Given the description of an element on the screen output the (x, y) to click on. 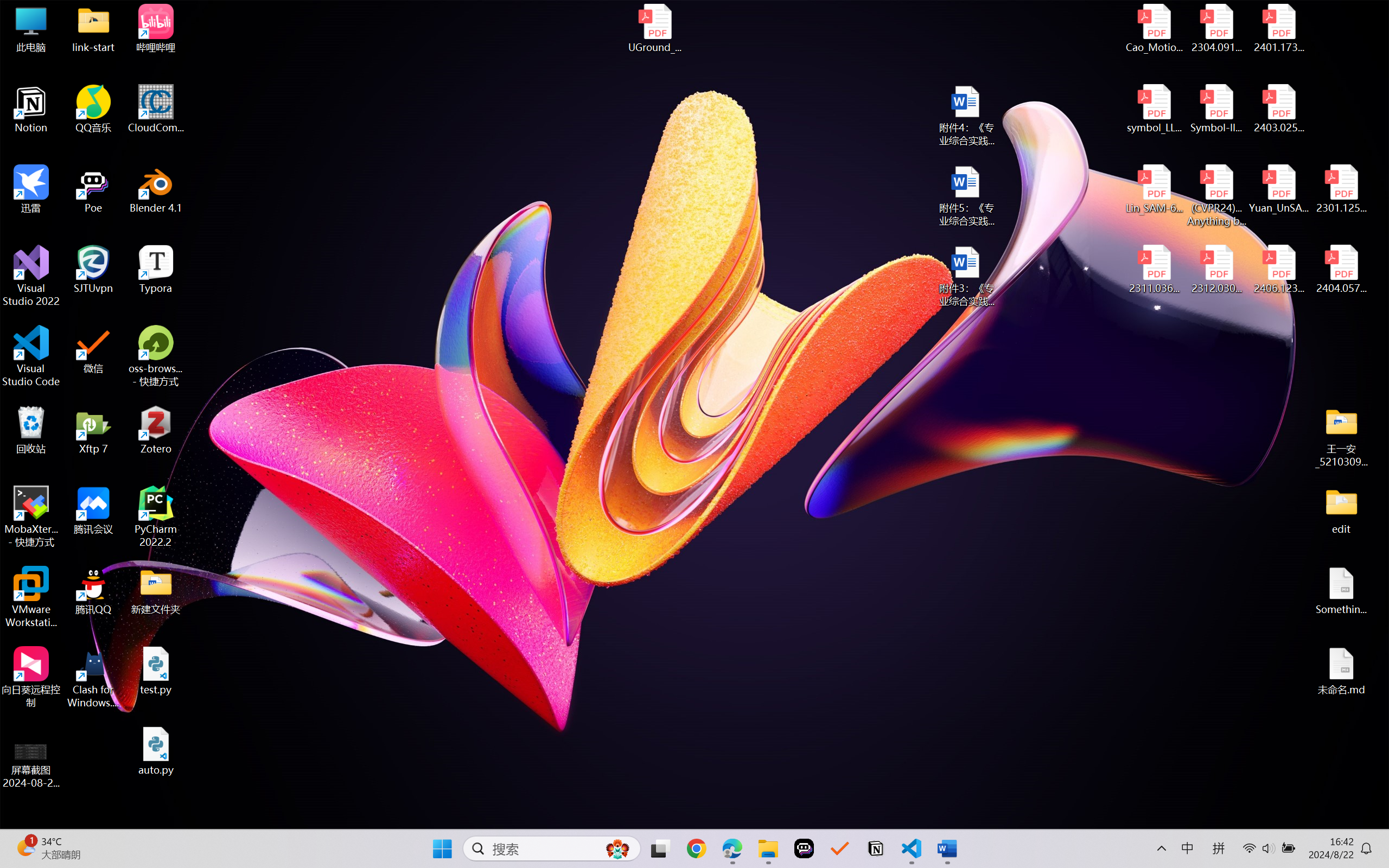
Typora (156, 269)
Blender 4.1 (156, 189)
2301.12597v3.pdf (1340, 189)
PyCharm 2022.2 (156, 516)
2404.05719v1.pdf (1340, 269)
